Given the description of an element on the screen output the (x, y) to click on. 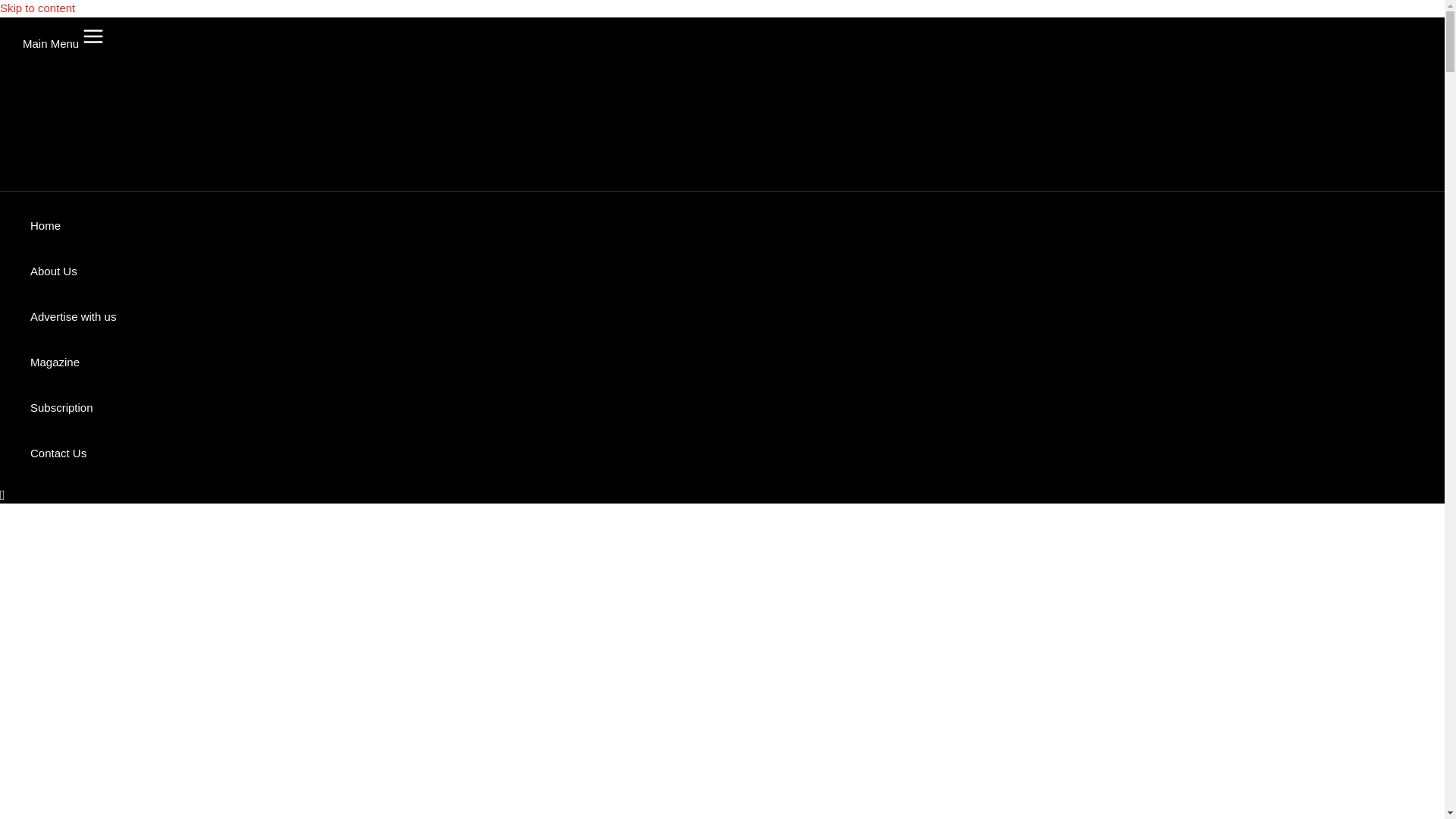
Main Menu (67, 36)
About Us (73, 271)
Subscription (73, 407)
Home (73, 225)
Contact Us (73, 452)
Advertise with us (73, 316)
Magazine (73, 361)
